Given the description of an element on the screen output the (x, y) to click on. 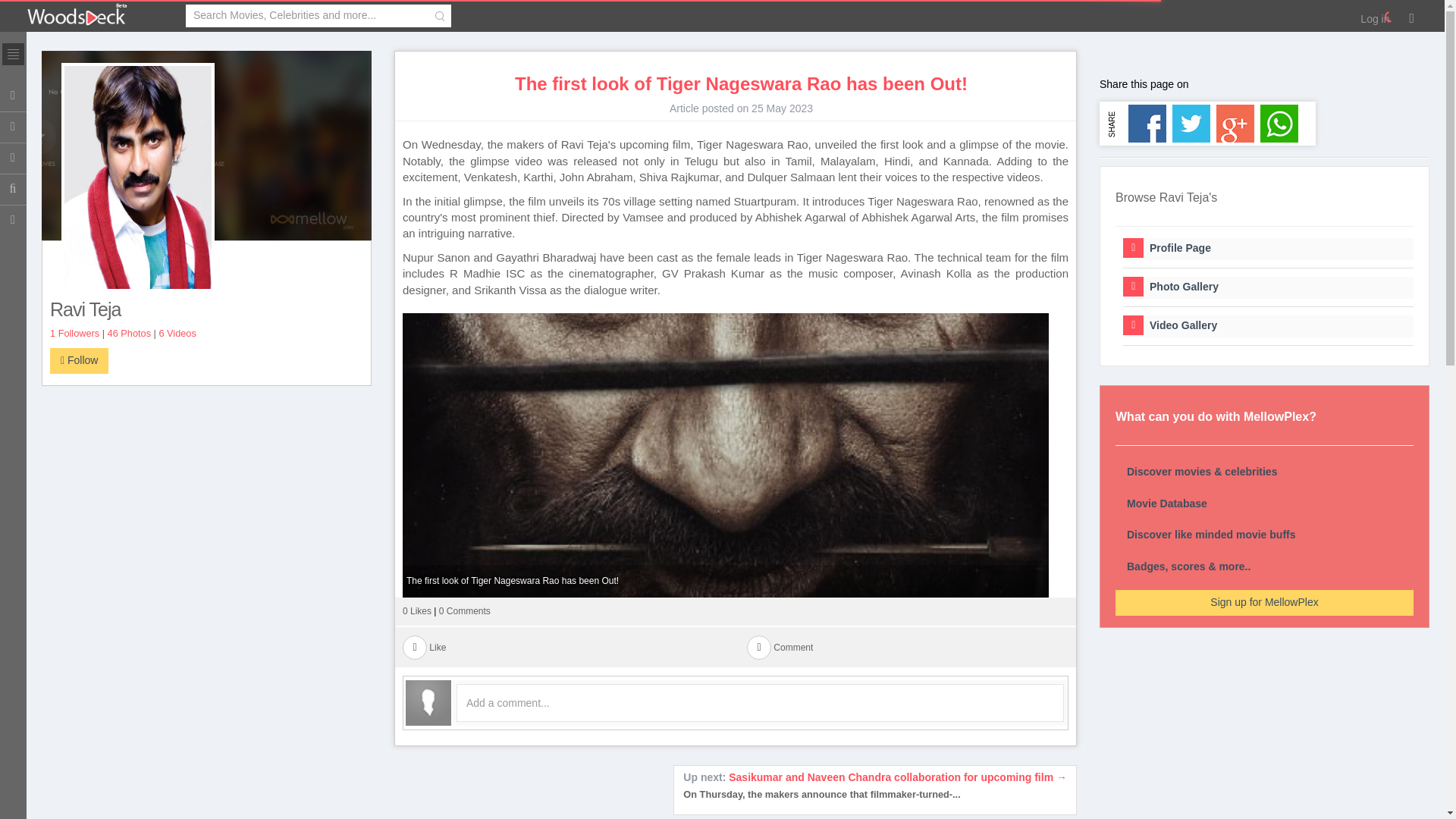
1 Followers (74, 333)
46 Photos (129, 333)
6 Videos (176, 333)
The first look of Tiger Nageswara Rao has been Out! (740, 84)
Advertisement (206, 499)
Follow (78, 360)
Ravi Teja (206, 310)
